Given the description of an element on the screen output the (x, y) to click on. 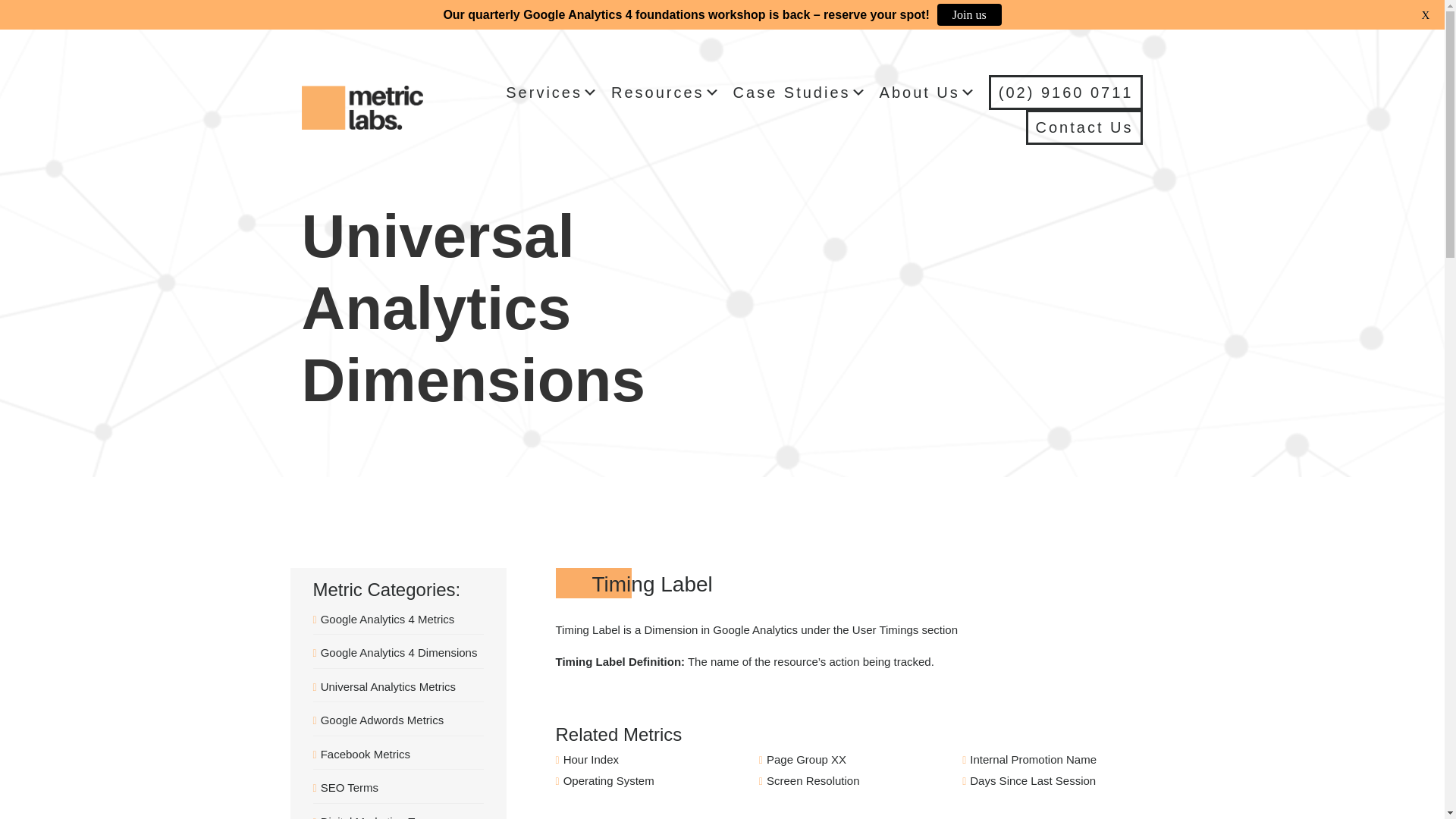
Resources (666, 92)
Services (552, 92)
